Given the description of an element on the screen output the (x, y) to click on. 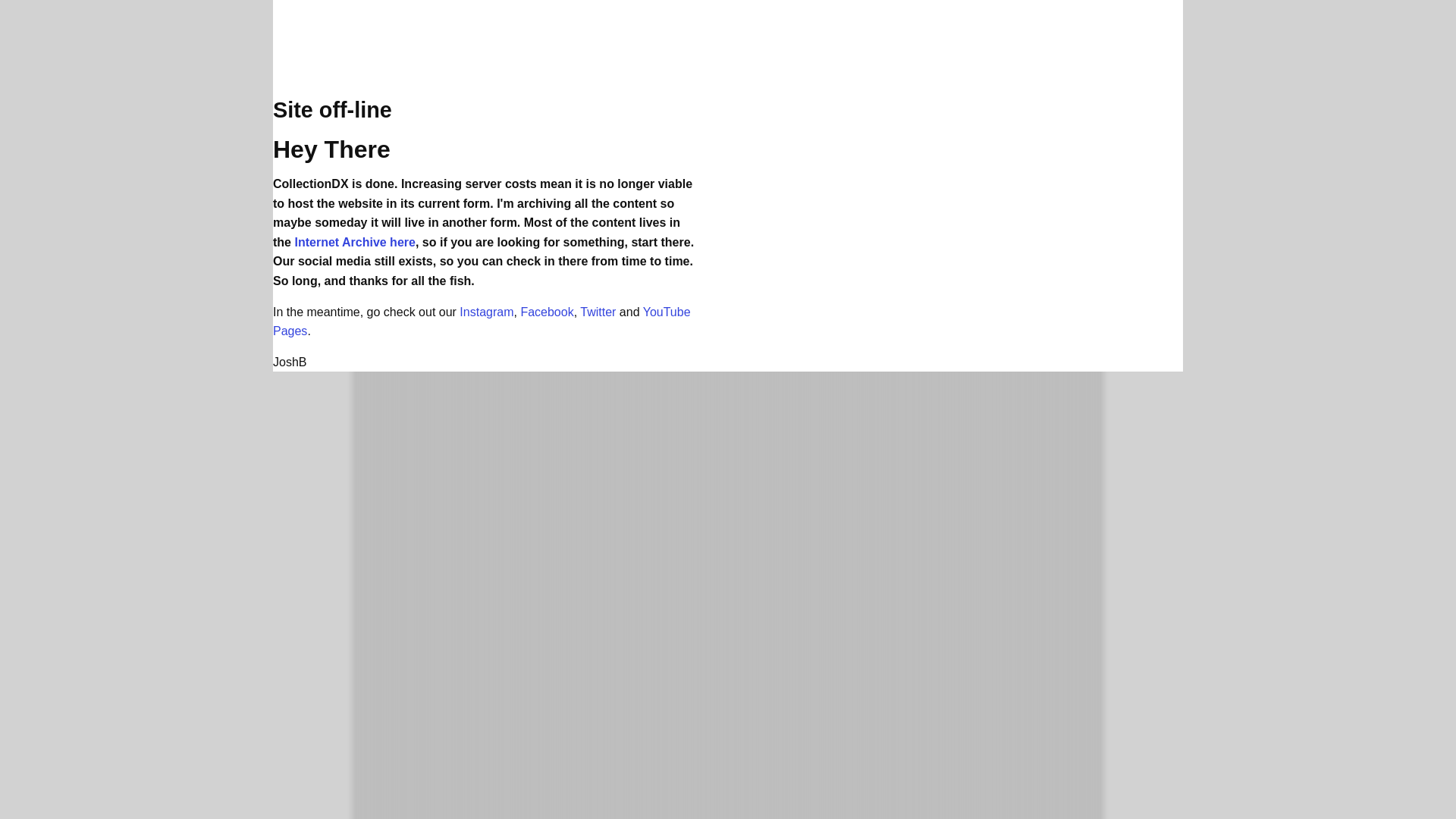
Internet Archive here (354, 241)
Facebook (546, 311)
Instagram (486, 311)
YouTube Pages (481, 321)
Twitter (597, 311)
